Given the description of an element on the screen output the (x, y) to click on. 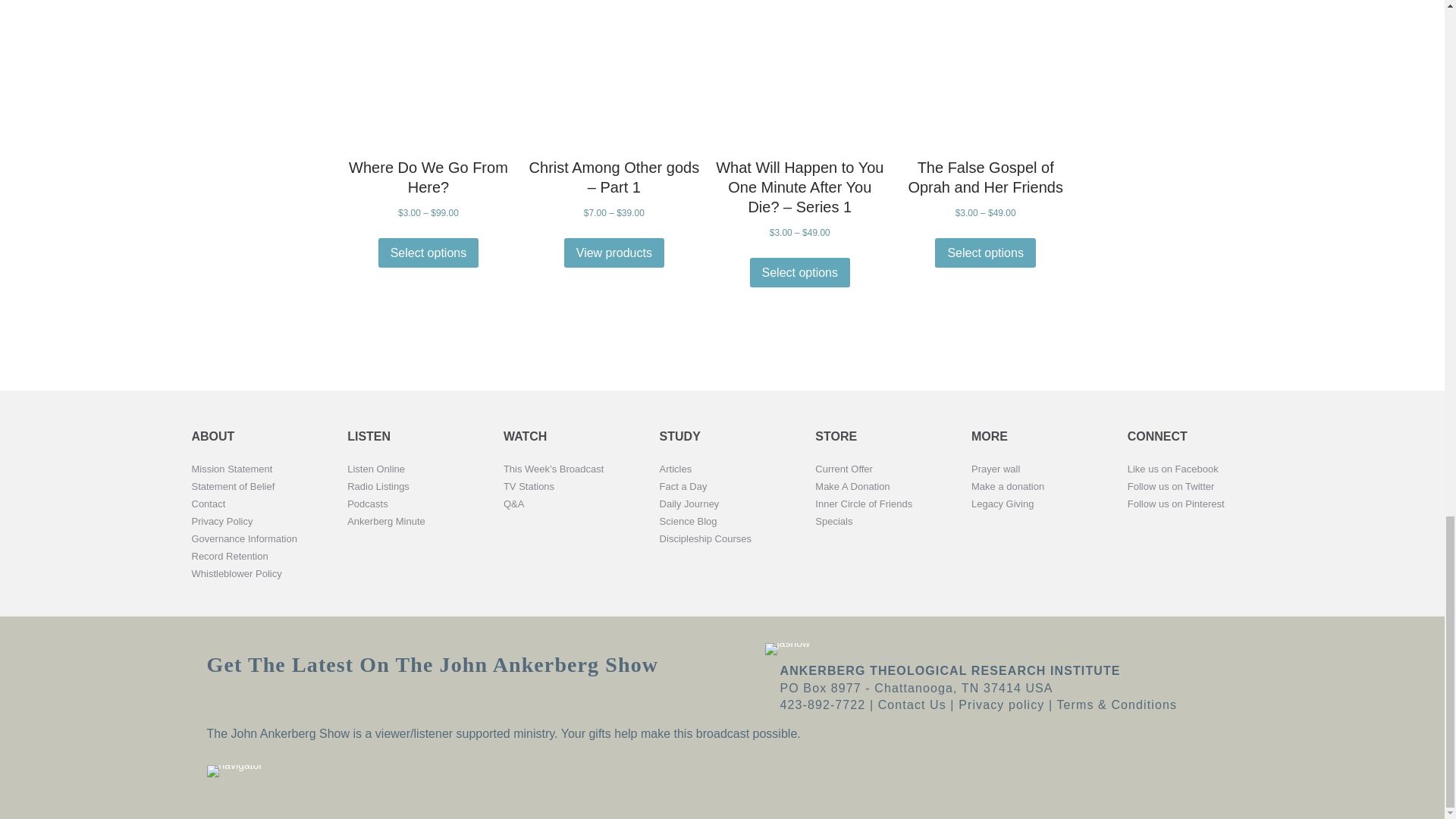
jashow (786, 648)
